Given the description of an element on the screen output the (x, y) to click on. 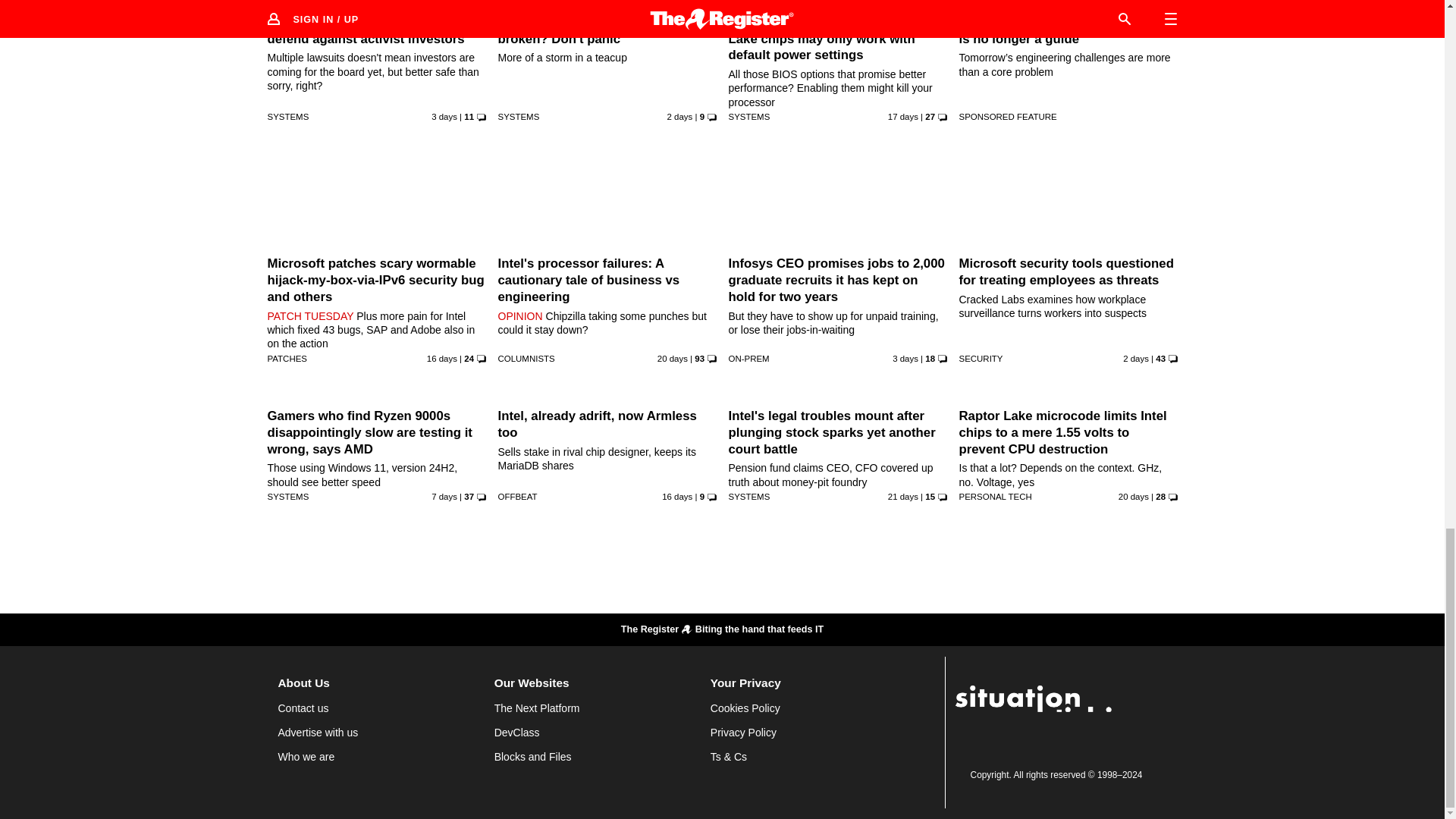
12 Aug 2024 20:35 (903, 116)
9 Aug 2024 8:34 (672, 358)
14 Aug 2024 0:45 (441, 358)
26 Aug 2024 17:30 (443, 116)
14 Aug 2024 5:33 (677, 496)
27 Aug 2024 5:14 (905, 358)
23 Aug 2024 0:30 (443, 496)
27 Aug 2024 19:59 (679, 116)
27 Aug 2024 14:0 (1135, 358)
